Given the description of an element on the screen output the (x, y) to click on. 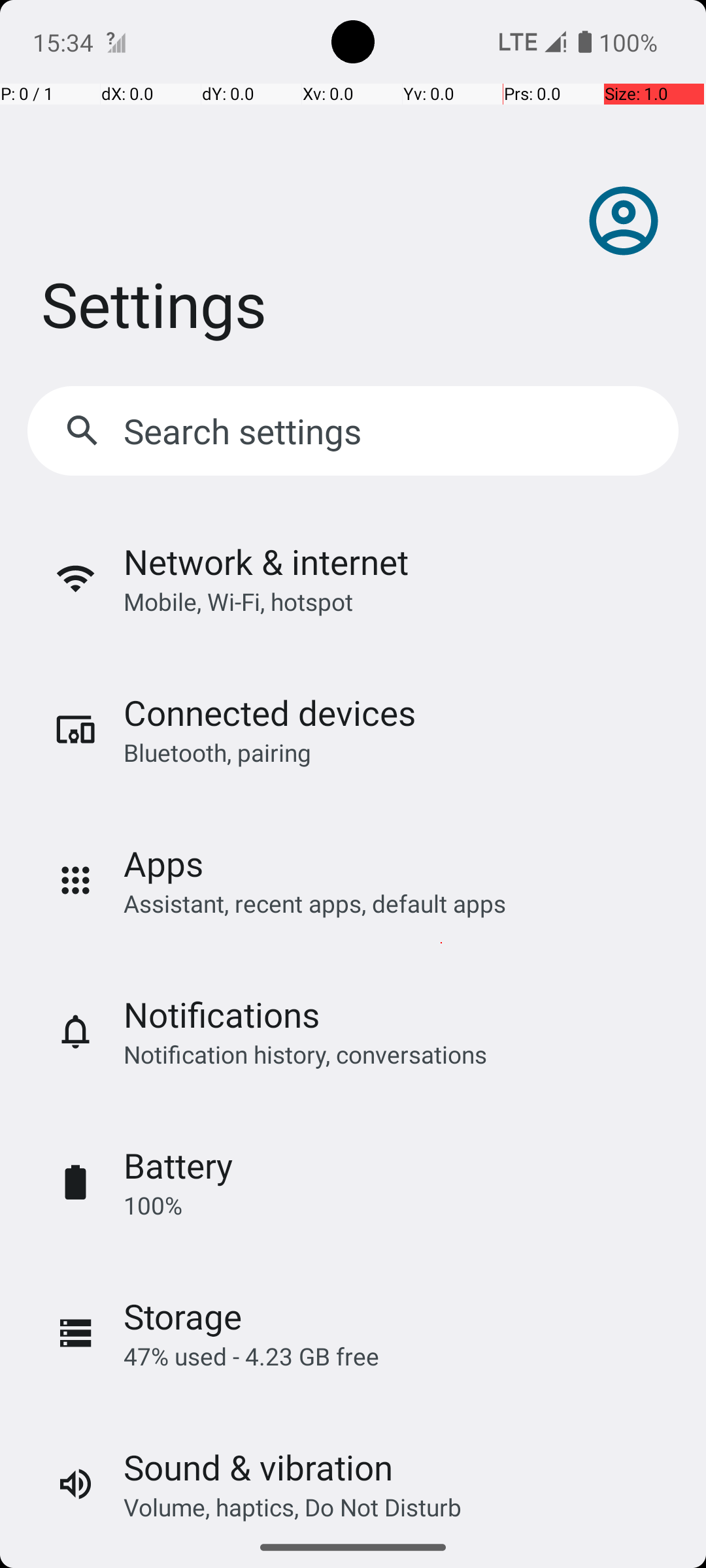
47% used - 4.23 GB free Element type: android.widget.TextView (251, 1355)
